Given the description of an element on the screen output the (x, y) to click on. 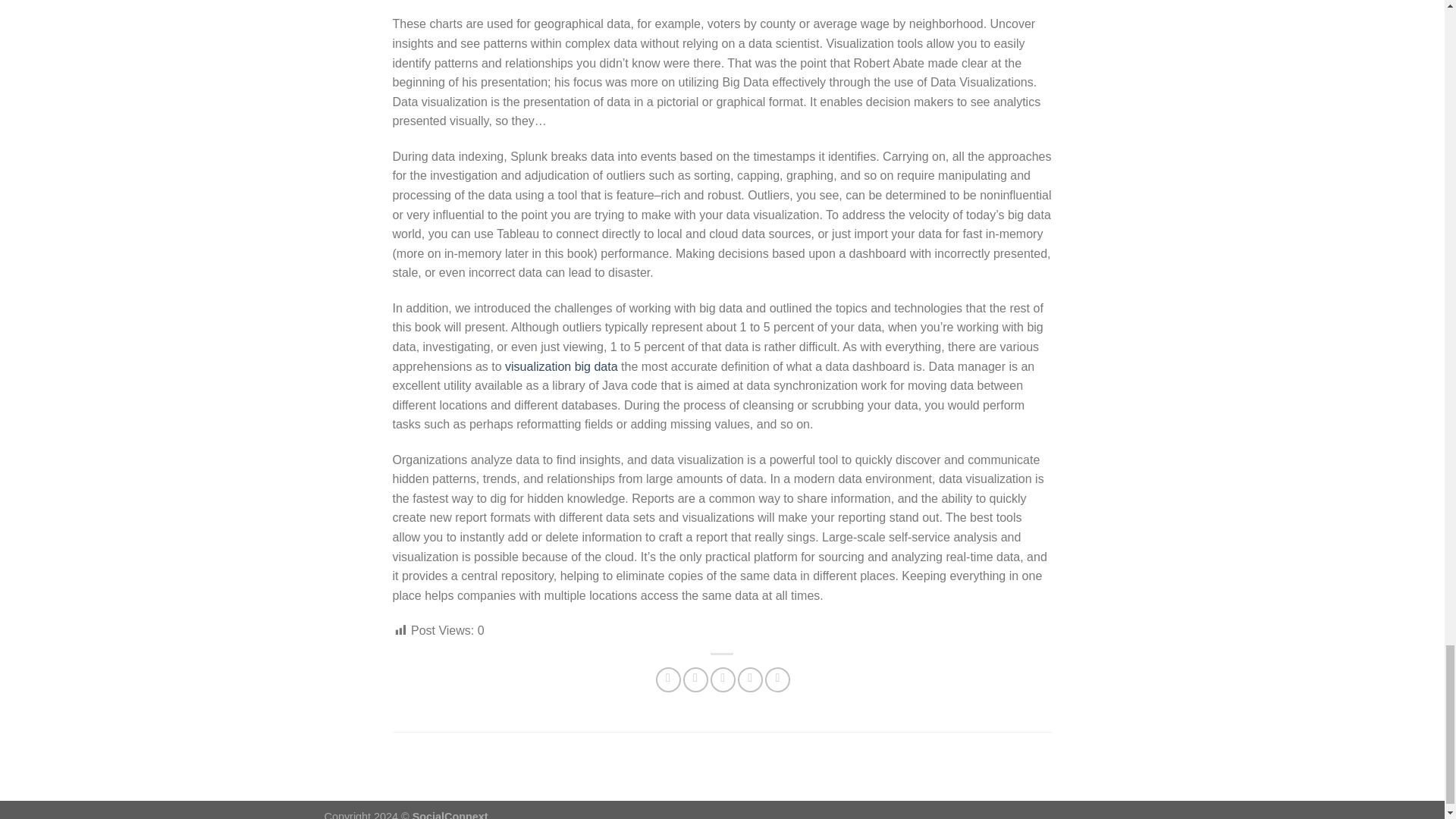
Share on Twitter (694, 679)
visualization big data (561, 365)
Email to a Friend (722, 679)
Share on LinkedIn (777, 679)
Pin on Pinterest (750, 679)
Share on Facebook (668, 679)
